Given the description of an element on the screen output the (x, y) to click on. 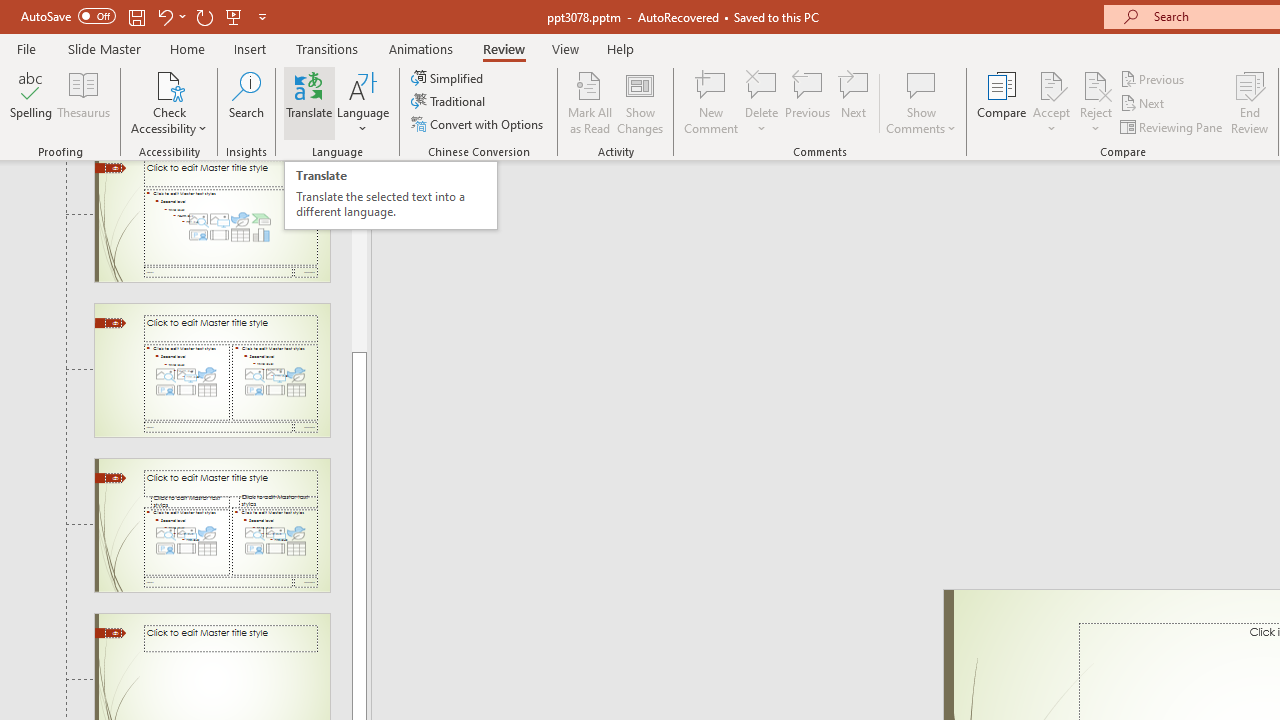
Traditional (449, 101)
Slide Two Content Layout: used by no slides (212, 370)
Show Comments (921, 84)
Simplified (449, 78)
Next (1144, 103)
Slide Master (104, 48)
Reject Change (1096, 84)
Accept Change (1051, 84)
